Given the description of an element on the screen output the (x, y) to click on. 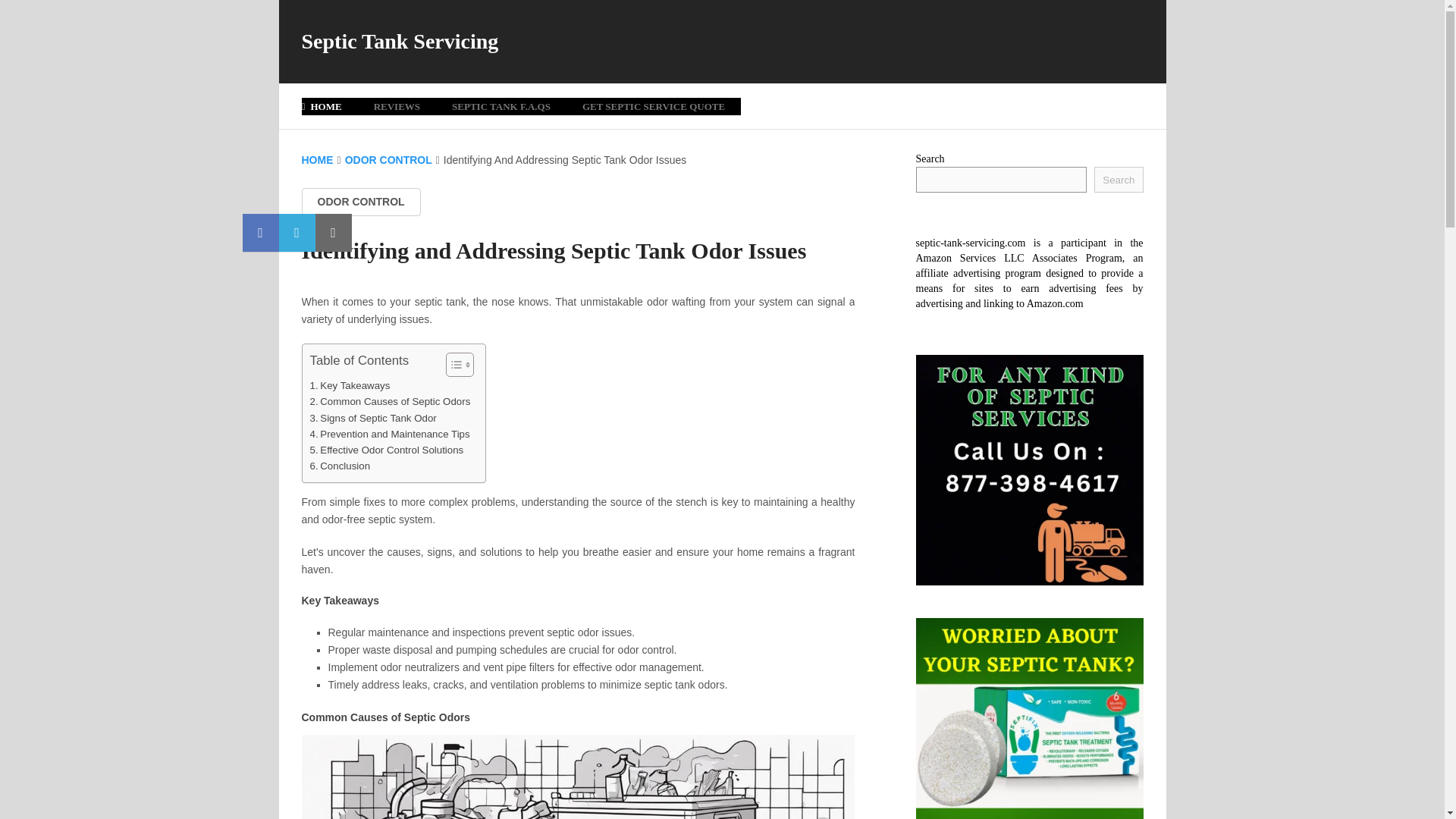
Conclusion (338, 465)
Effective Odor Control Solutions (385, 449)
Conclusion (338, 465)
Prevention and Maintenance Tips (388, 433)
HOME (329, 105)
Search (1118, 179)
HOME (317, 159)
Signs of Septic Tank Odor (371, 417)
Effective Odor Control Solutions (385, 449)
View all posts in Odor Control (360, 202)
Common Causes of Septic Odors (389, 401)
Signs of Septic Tank Odor (371, 417)
ODOR CONTROL (360, 202)
Prevention and Maintenance Tips (388, 433)
REVIEWS (396, 105)
